Given the description of an element on the screen output the (x, y) to click on. 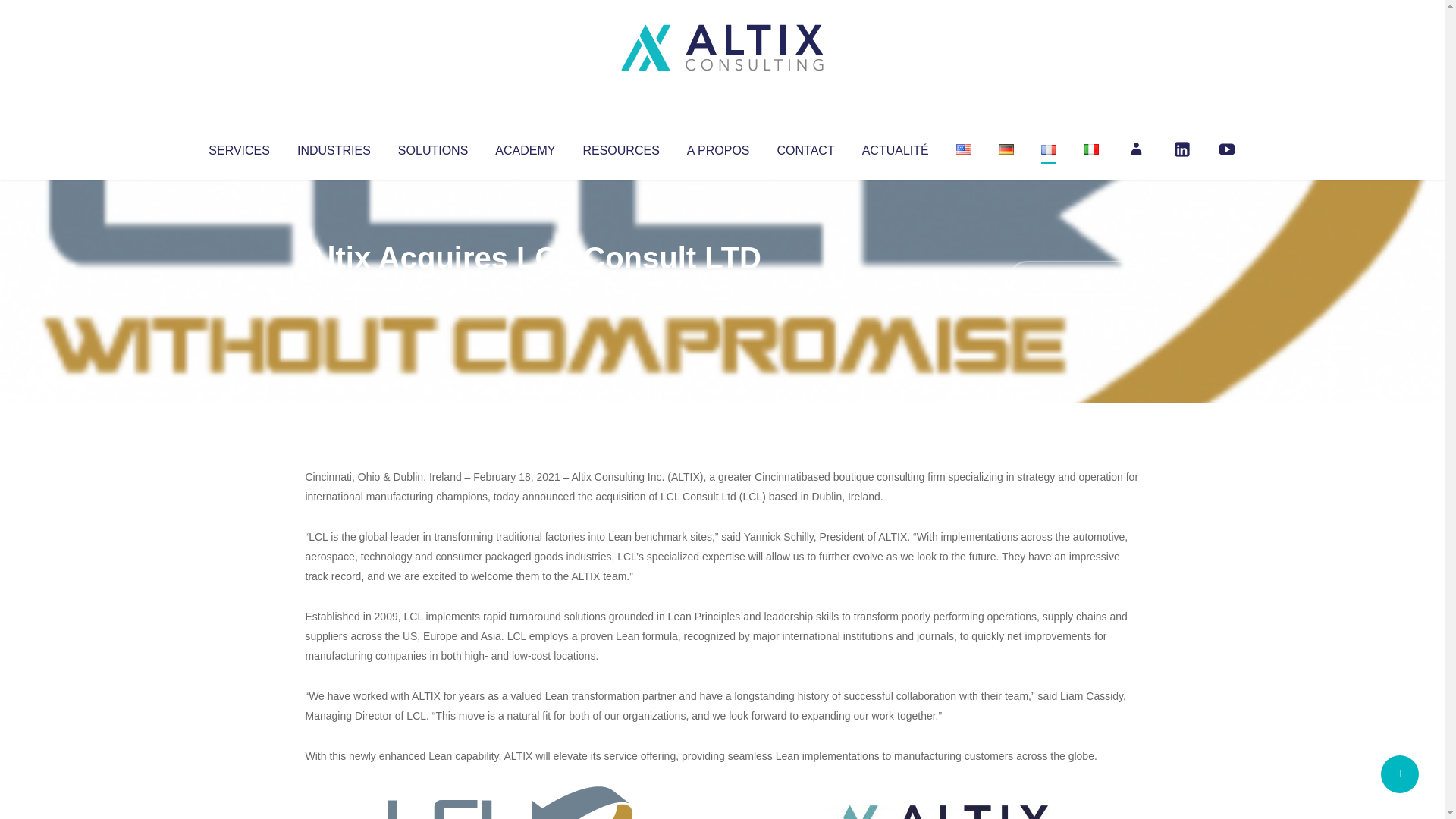
Uncategorized (530, 287)
SOLUTIONS (432, 146)
ACADEMY (524, 146)
A PROPOS (718, 146)
SERVICES (238, 146)
No Comments (1073, 278)
INDUSTRIES (334, 146)
Altix (333, 287)
Articles par Altix (333, 287)
RESOURCES (620, 146)
